Given the description of an element on the screen output the (x, y) to click on. 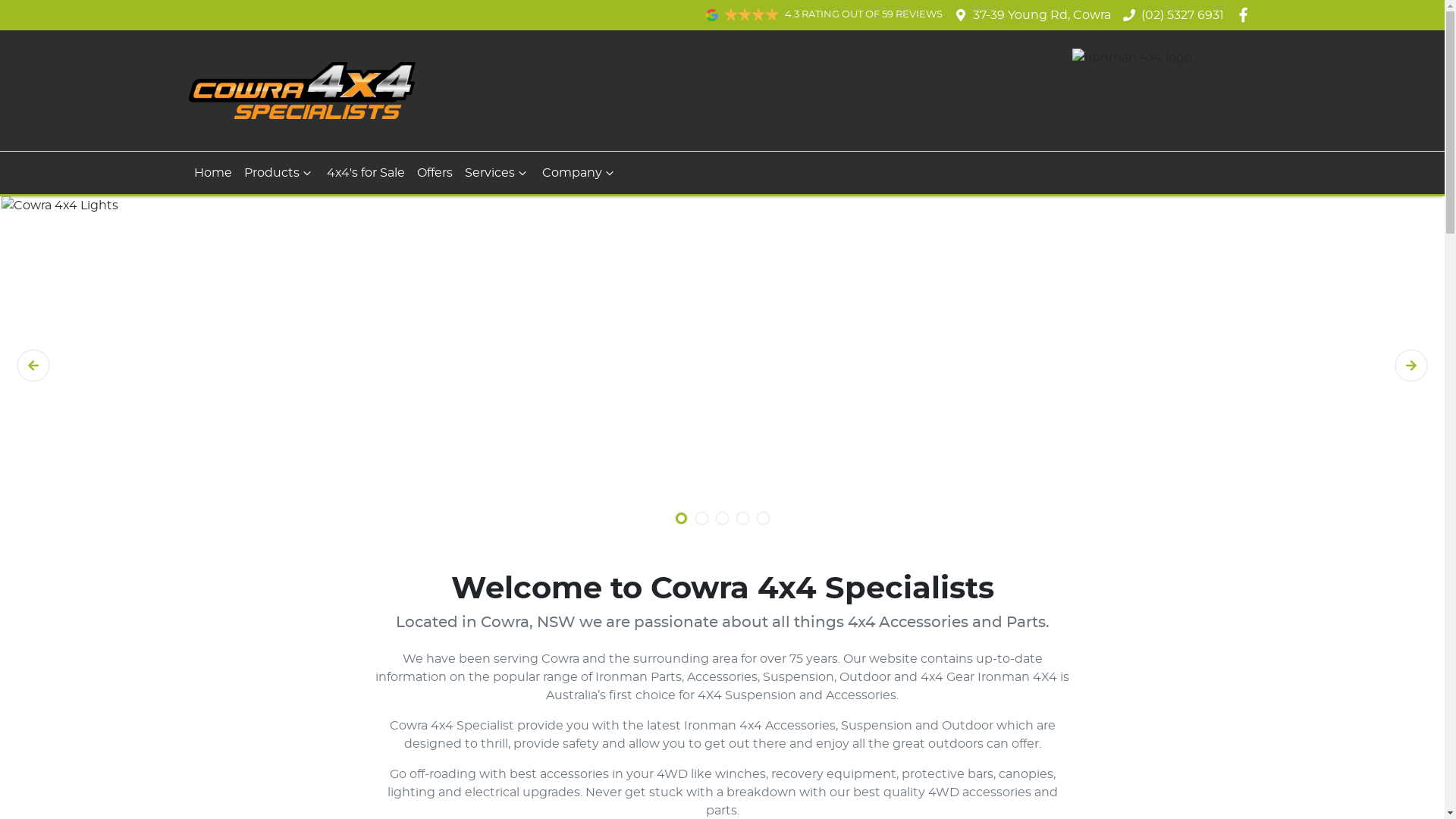
Services Element type: text (496, 172)
37-39 Young Rd, Cowra Element type: text (1041, 15)
Products Element type: text (279, 172)
Company Element type: text (578, 172)
4x4's for Sale Element type: text (365, 172)
(02) 5327 6931 Element type: text (1182, 15)
Home Element type: text (213, 172)
Offers Element type: text (434, 172)
